Given the description of an element on the screen output the (x, y) to click on. 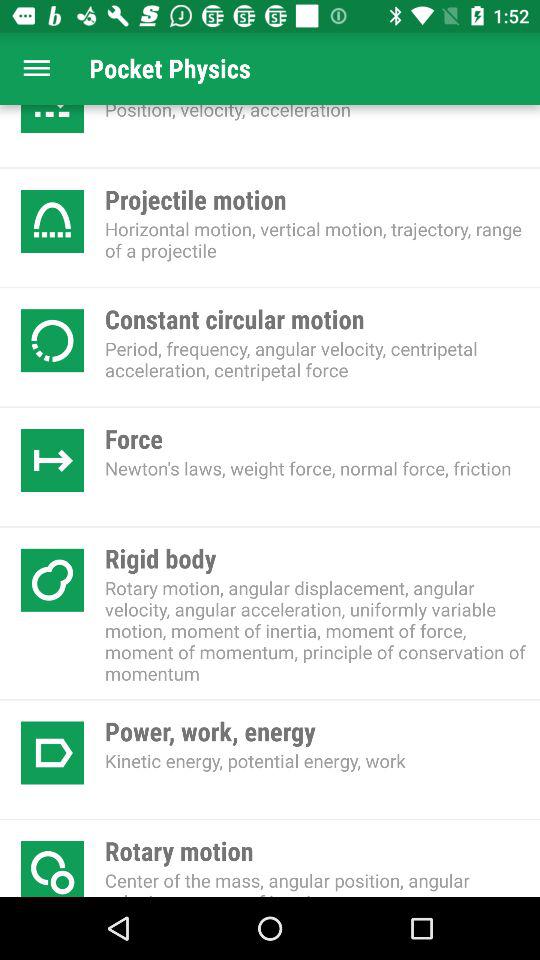
go to main menu (36, 68)
